Given the description of an element on the screen output the (x, y) to click on. 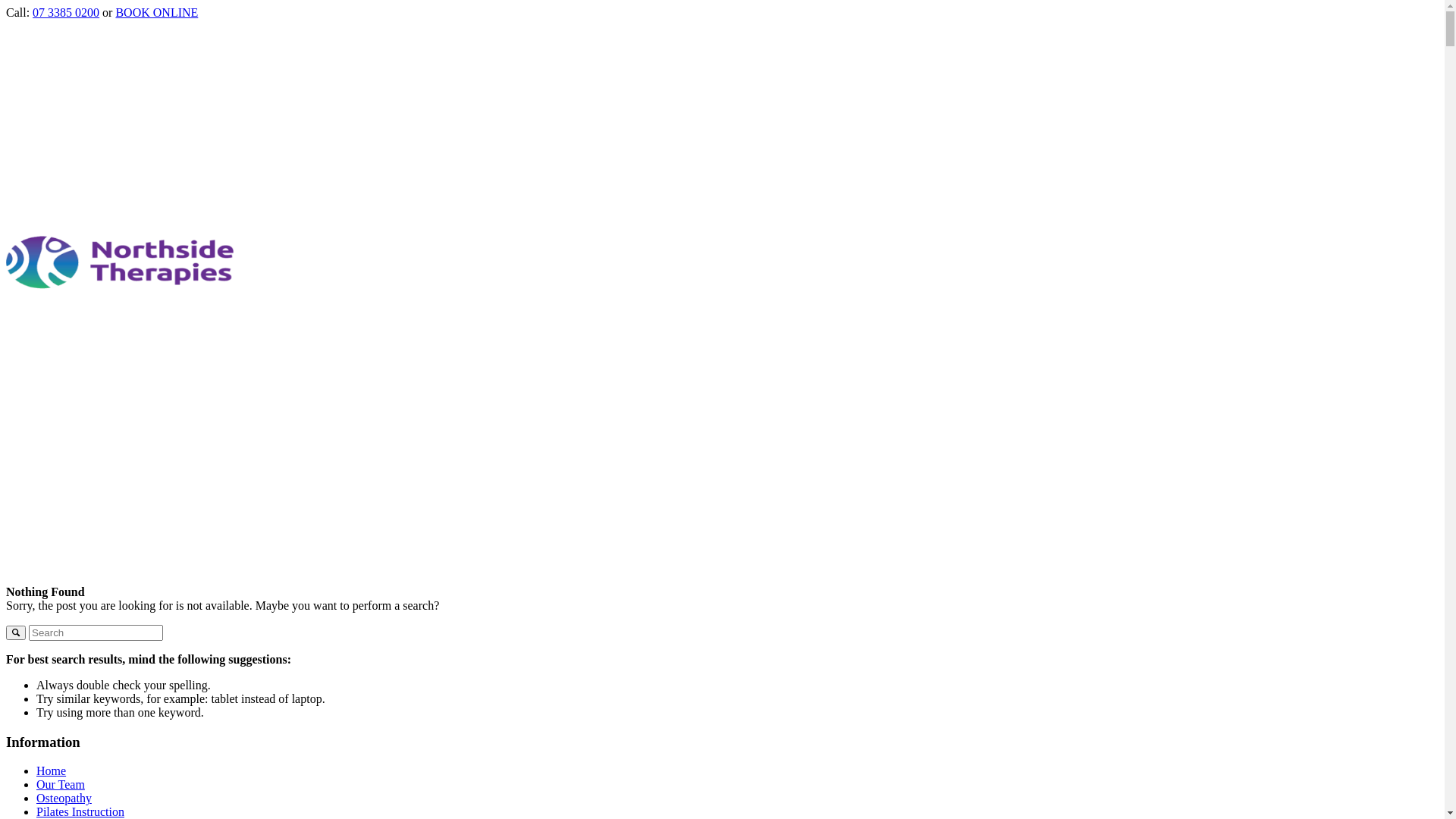
Pilates Instruction Element type: text (80, 811)
07 3385 0200 Element type: text (65, 12)
Home Element type: text (50, 770)
BOOK ONLINE Element type: text (156, 12)
Osteopathy Element type: text (63, 797)
Our Team Element type: text (60, 784)
